Given the description of an element on the screen output the (x, y) to click on. 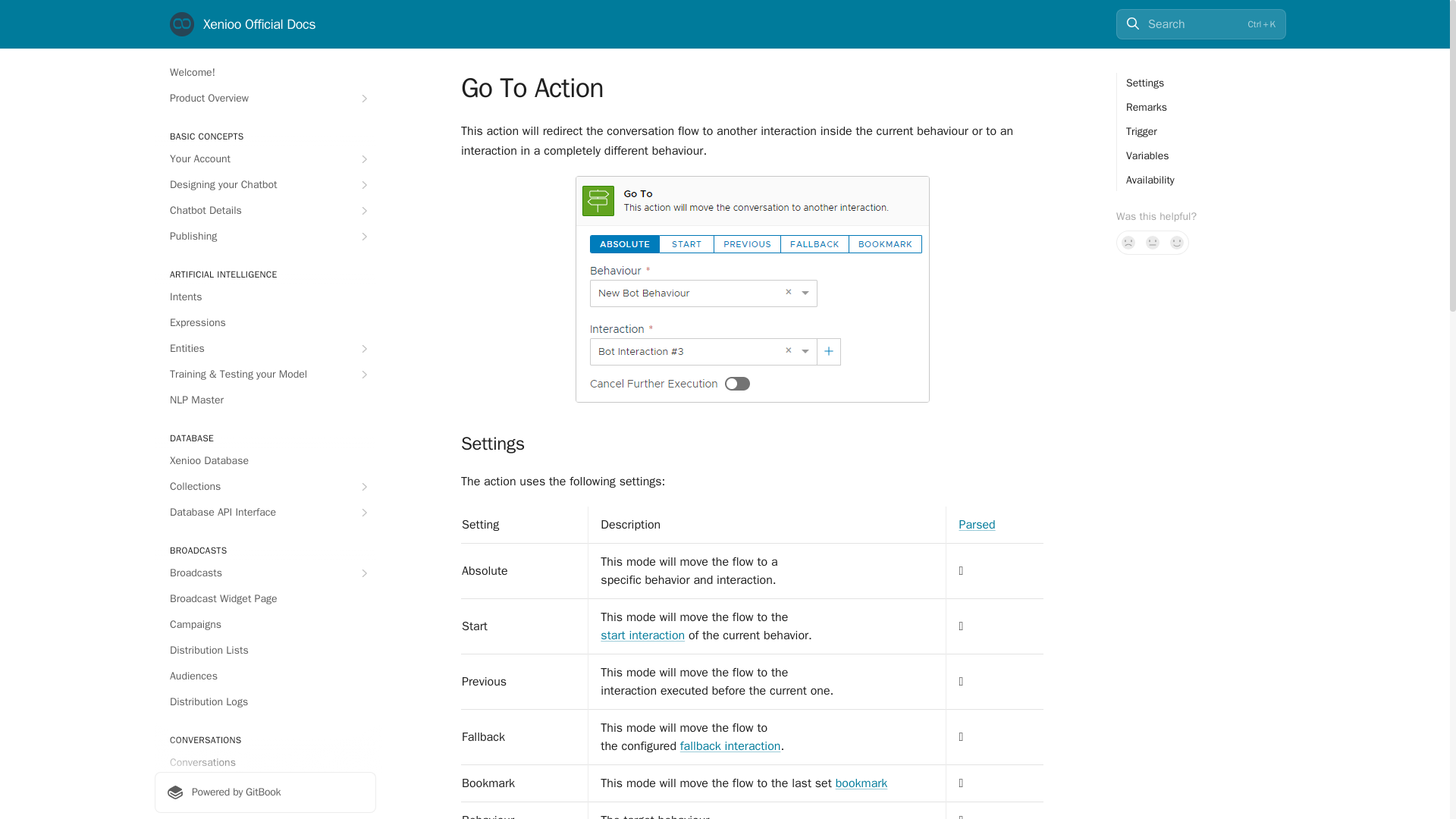
Yes, it was! (1176, 242)
Not sure (1152, 242)
No (1128, 242)
Welcome! (264, 72)
Product Overview (264, 98)
Xenioo Official Docs (242, 24)
Designing your Chatbot (264, 184)
Your Account (264, 159)
Chatbot Details (264, 210)
